Given the description of an element on the screen output the (x, y) to click on. 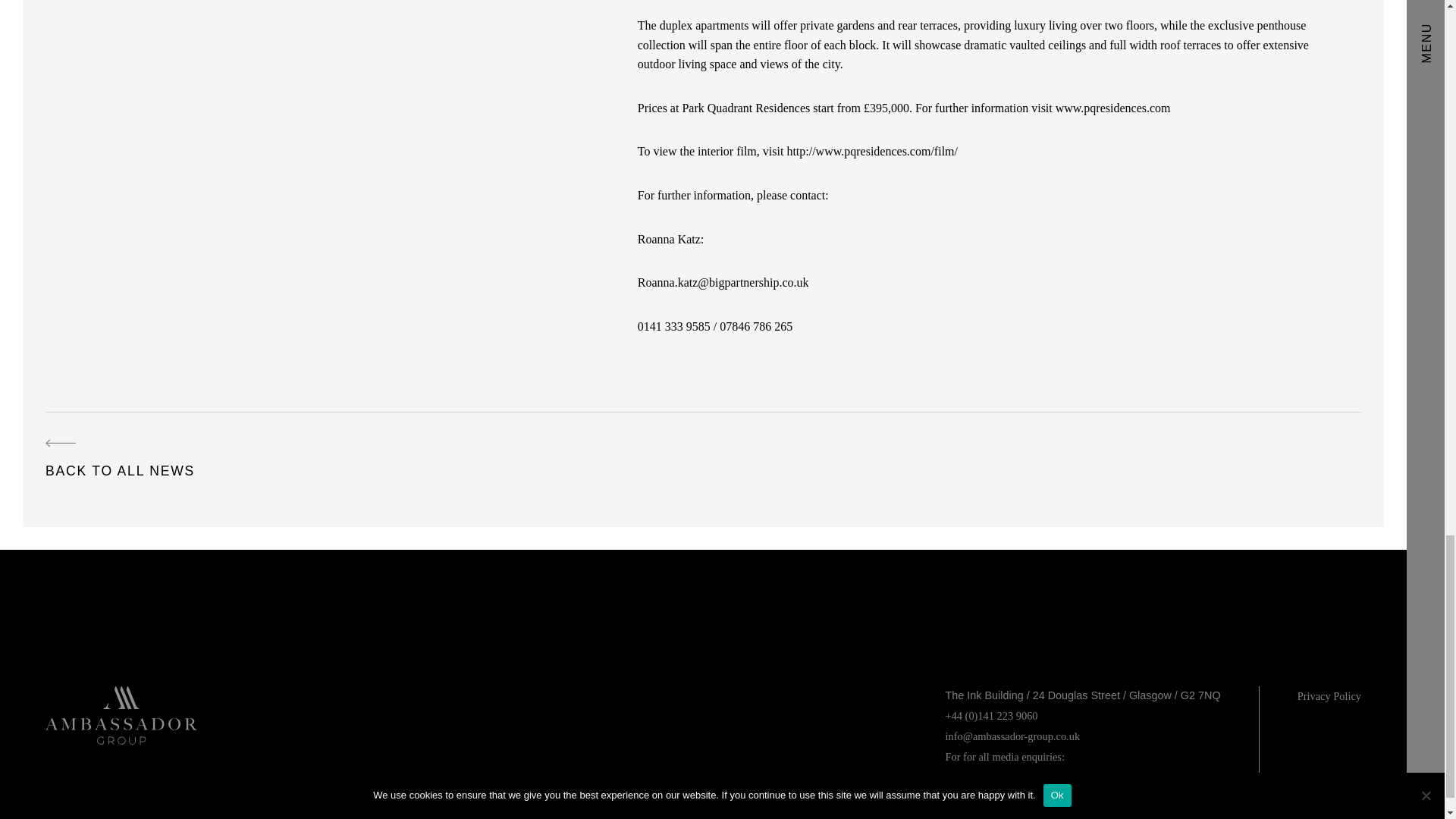
Privacy Policy (1329, 695)
BACK TO ALL NEWS (120, 459)
